Given the description of an element on the screen output the (x, y) to click on. 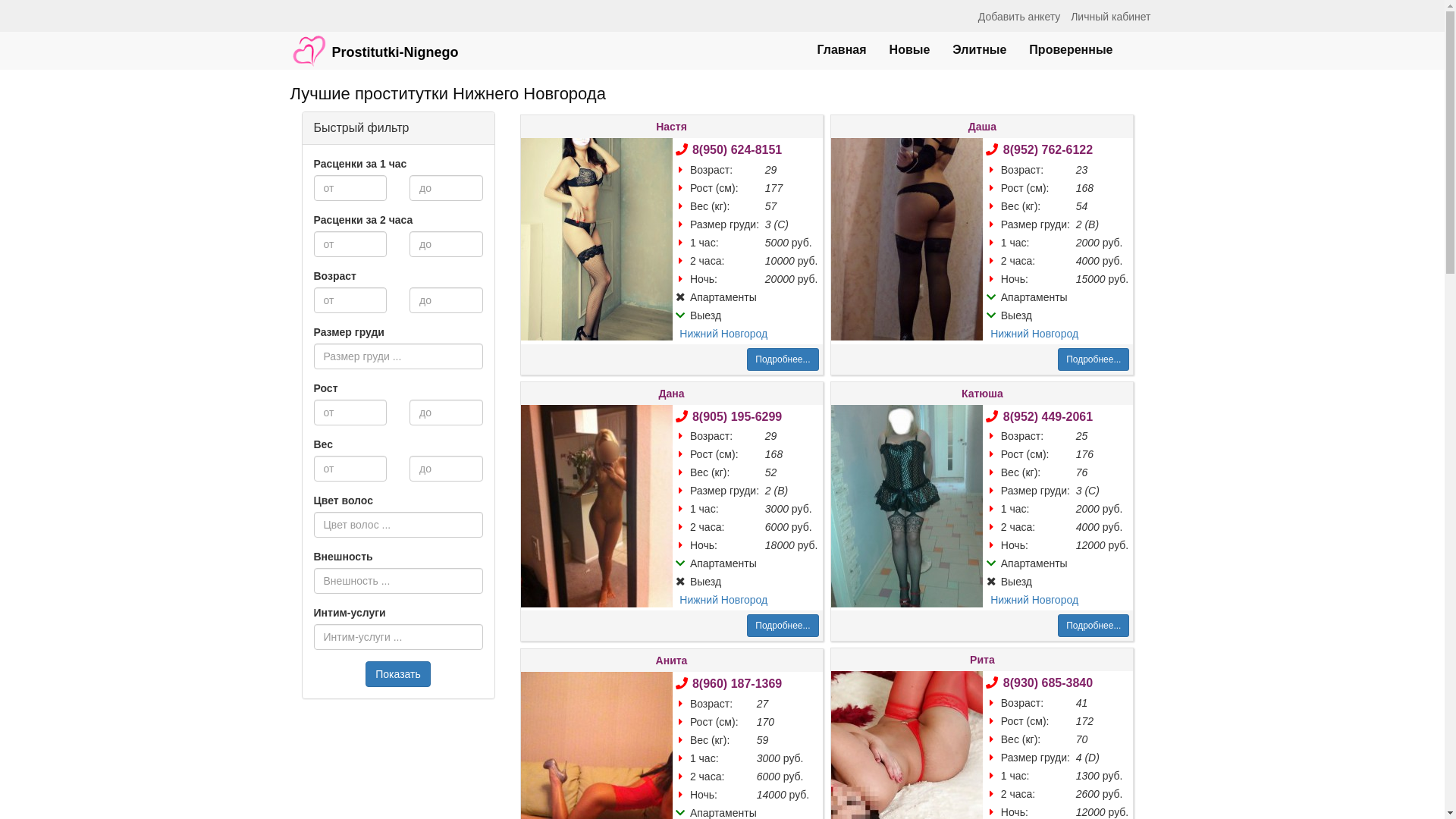
Prostitutki-Nignego Element type: text (374, 43)
